Given the description of an element on the screen output the (x, y) to click on. 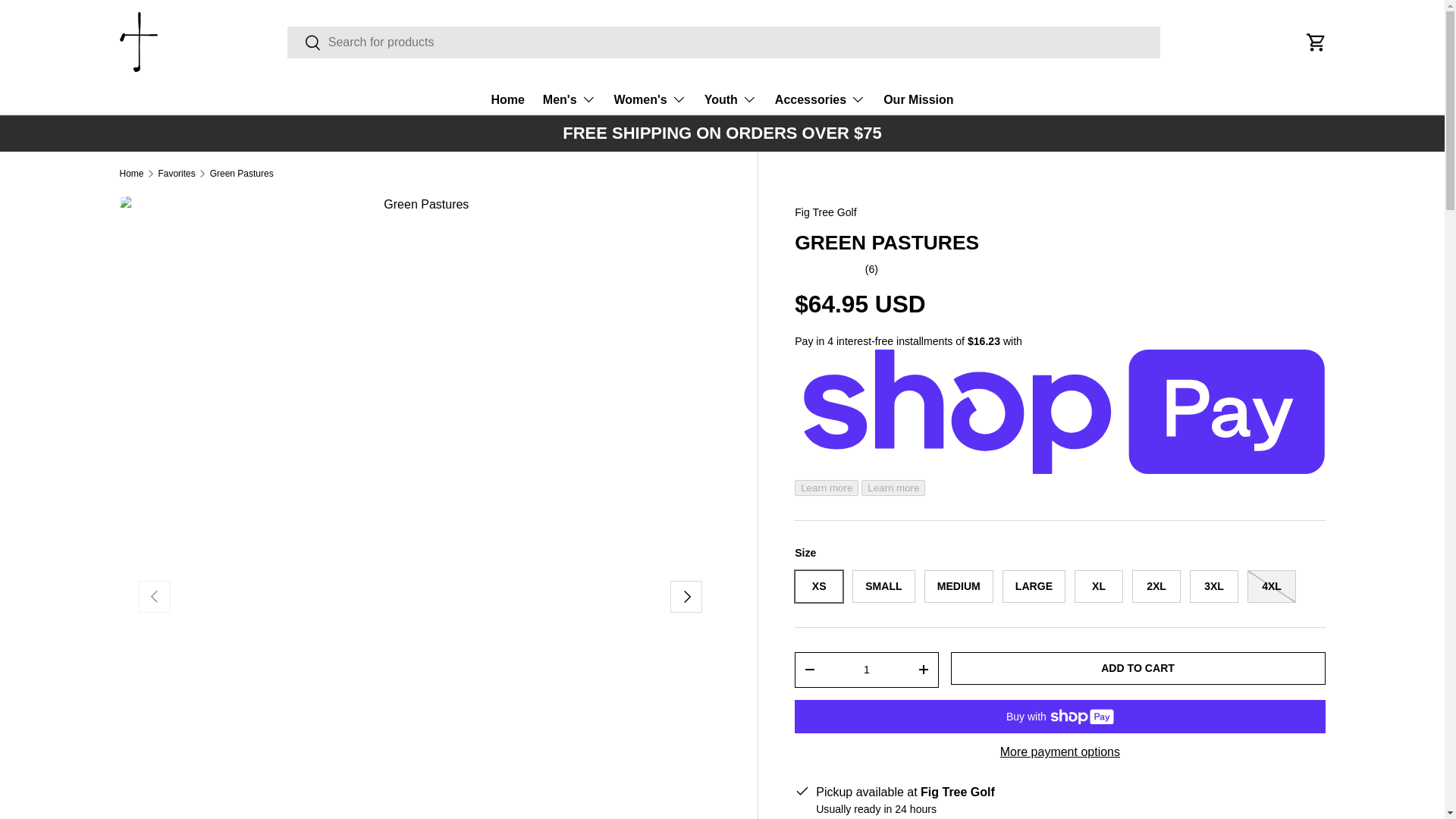
Home (507, 99)
Cart (1316, 41)
- (809, 669)
Home (131, 173)
NEXT (685, 596)
Green Pastures (241, 173)
More payment options (1059, 752)
ADD TO CART (1137, 667)
SKIP TO CONTENT (68, 21)
